Given the description of an element on the screen output the (x, y) to click on. 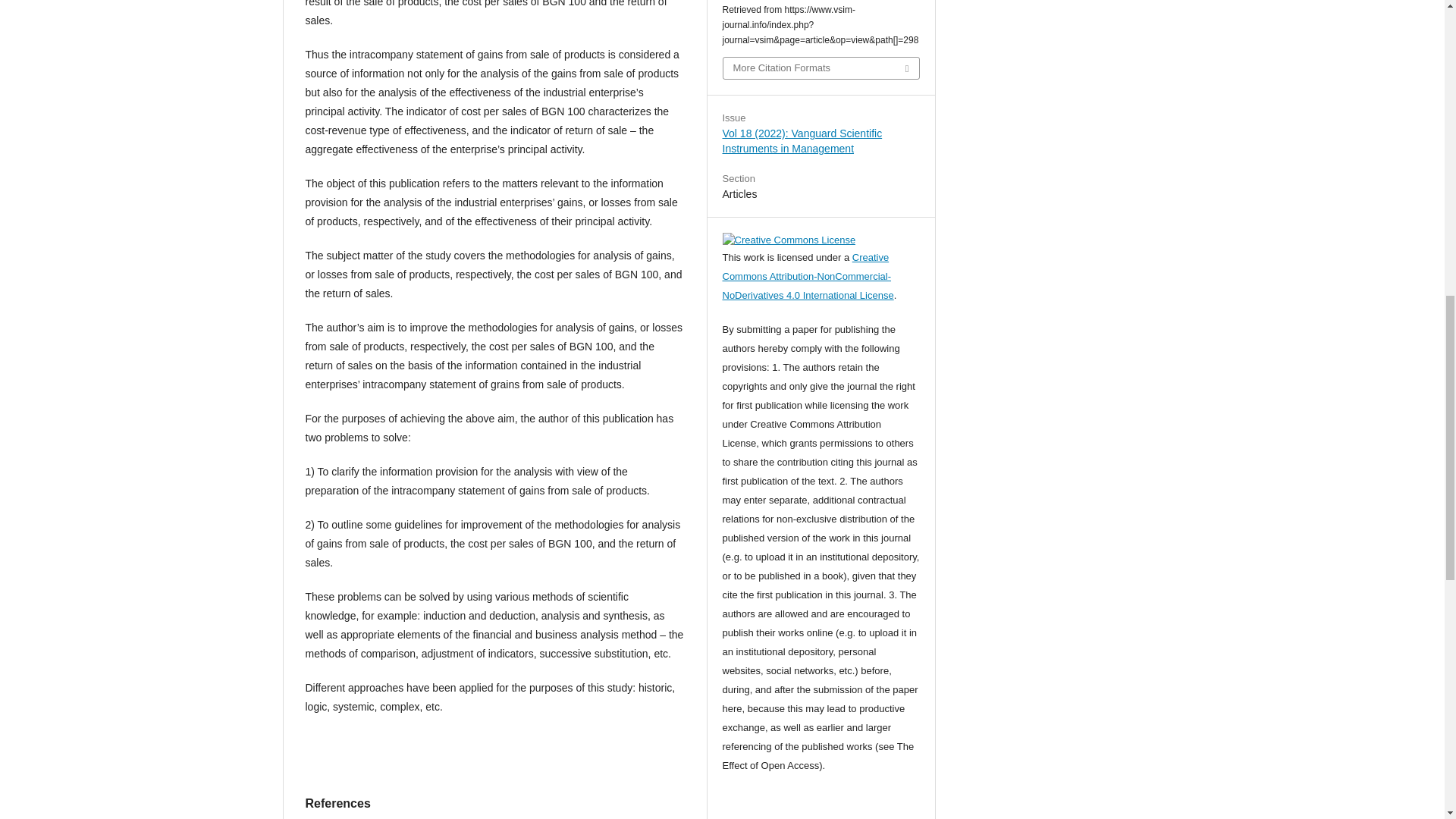
More Citation Formats (820, 67)
